Given the description of an element on the screen output the (x, y) to click on. 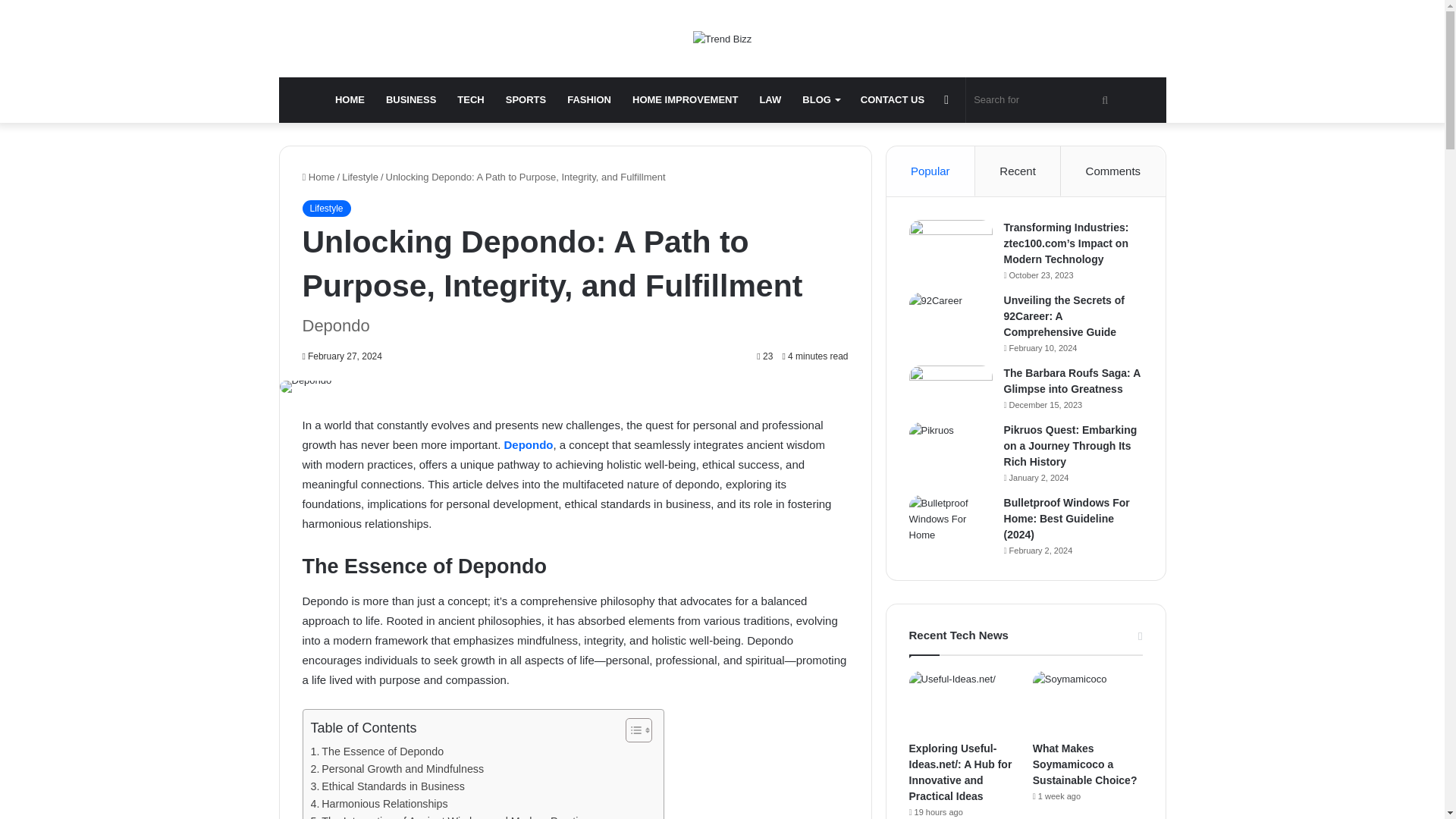
CONTACT US (892, 99)
Harmonious Relationships (379, 804)
Search for (1042, 99)
Personal Growth and Mindfulness (397, 769)
HOME IMPROVEMENT (684, 99)
TECH (470, 99)
Personal Growth and Mindfulness (397, 769)
Harmonious Relationships (379, 804)
The Essence of Depondo (377, 751)
The Integration of Ancient Wisdom and Modern Practices (453, 816)
